Given the description of an element on the screen output the (x, y) to click on. 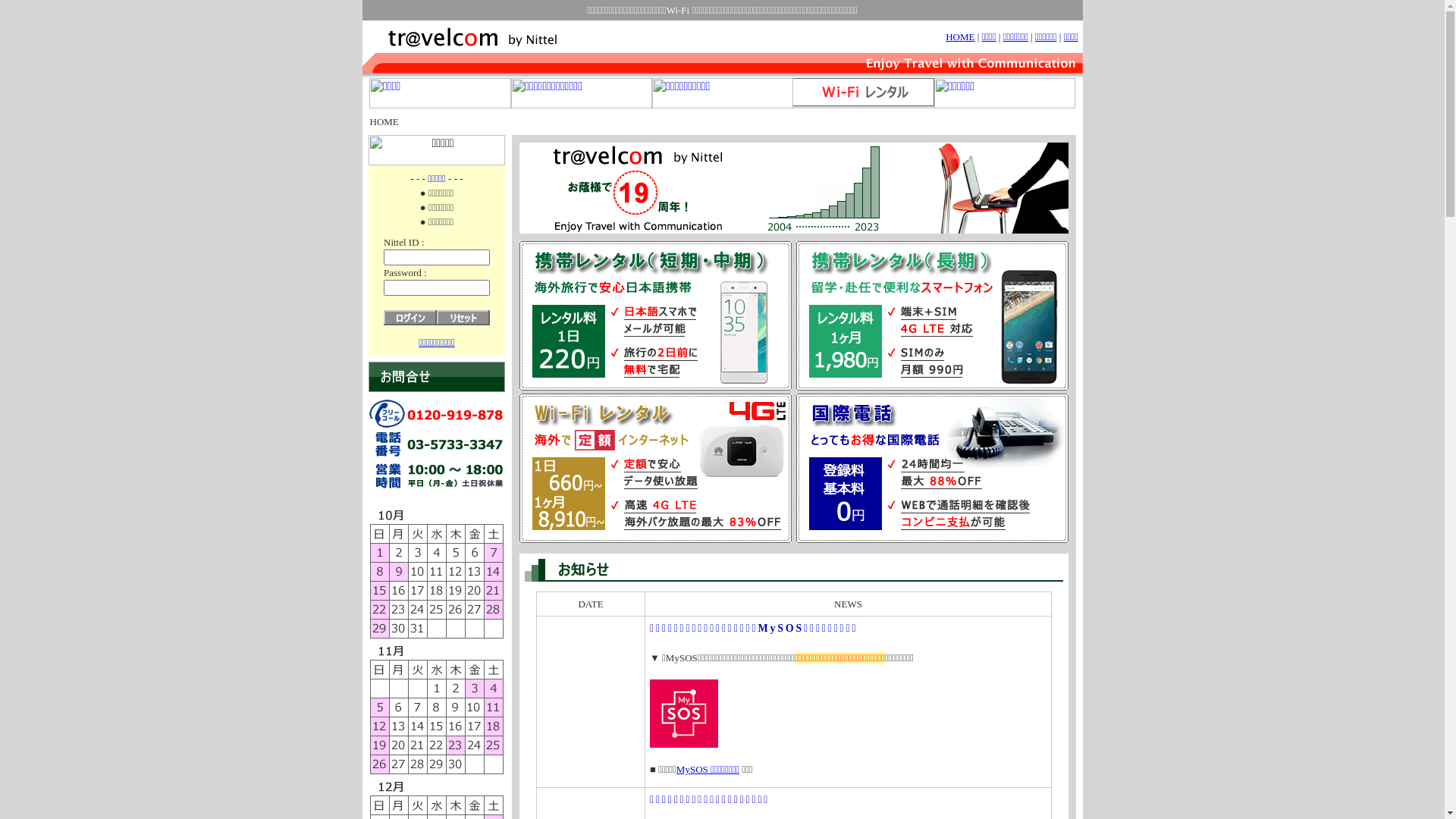
MySOS Element type: hover (683, 713)
login Element type: text (409, 317)
reset Element type: text (462, 317)
HOME Element type: text (959, 36)
